Given the description of an element on the screen output the (x, y) to click on. 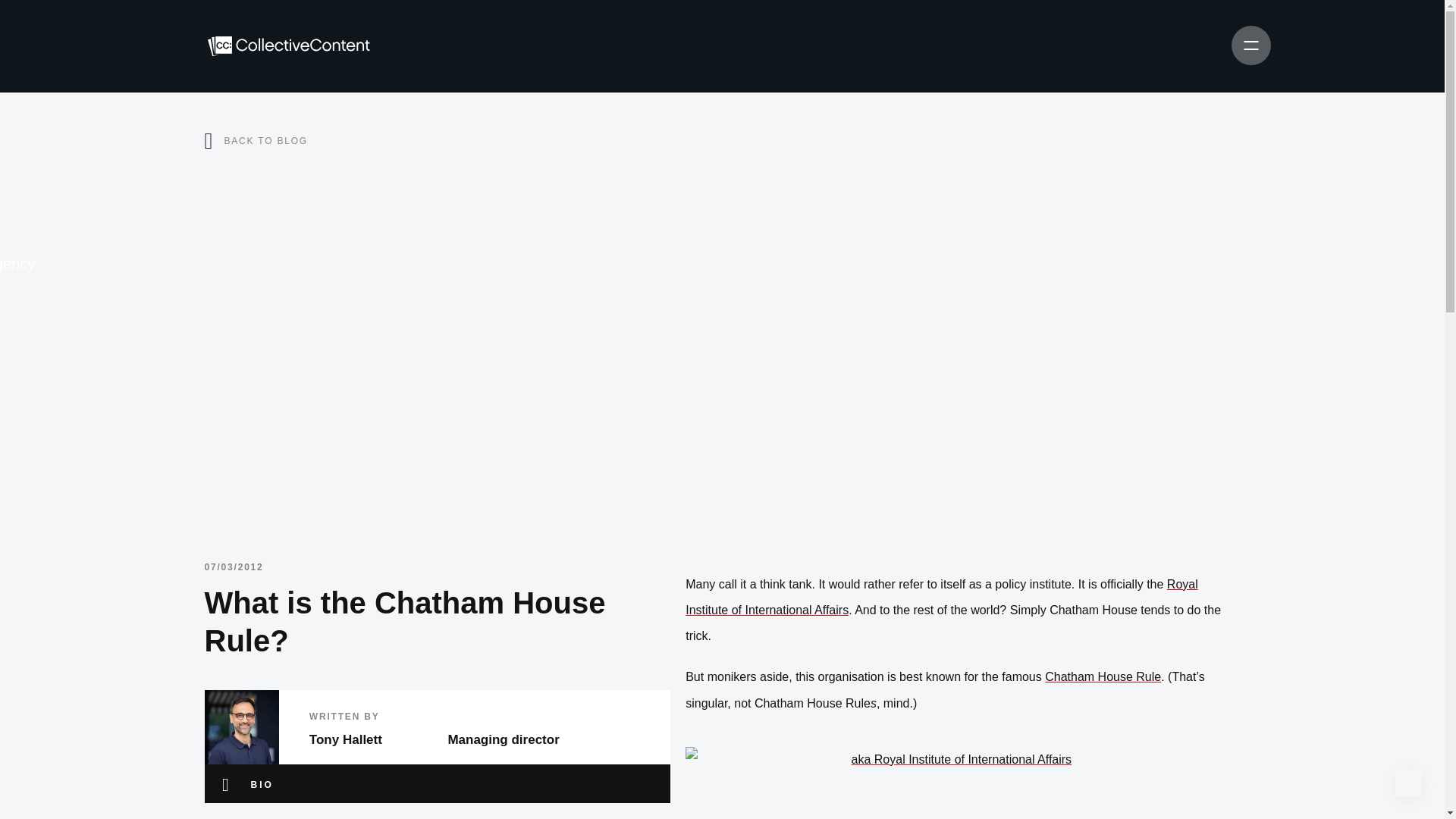
Chatham House Rule (1102, 676)
The Chatham House Rule (1102, 676)
BACK TO BLOG (265, 140)
Chatham House website (941, 597)
Chatham House logo (954, 775)
Royal Institute of International Affairs (941, 597)
